Given the description of an element on the screen output the (x, y) to click on. 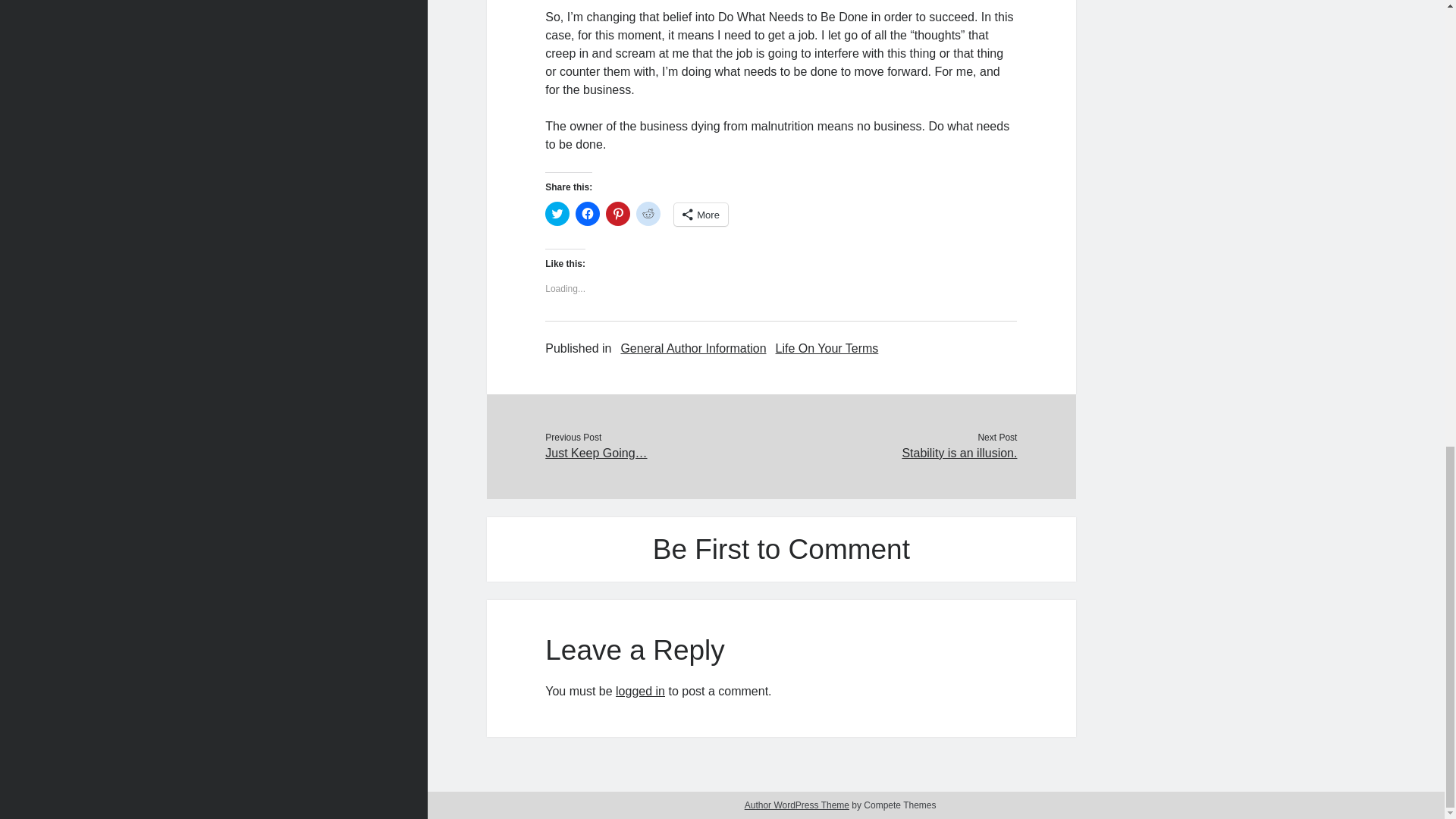
General Author Information (692, 348)
Click to share on Reddit (648, 213)
Click to share on Pinterest (617, 213)
View all posts in Life On Your Terms (827, 348)
Click to share on Facebook (587, 213)
View all posts in General Author Information (692, 348)
Click to share on Twitter (556, 213)
More (701, 214)
